Given the description of an element on the screen output the (x, y) to click on. 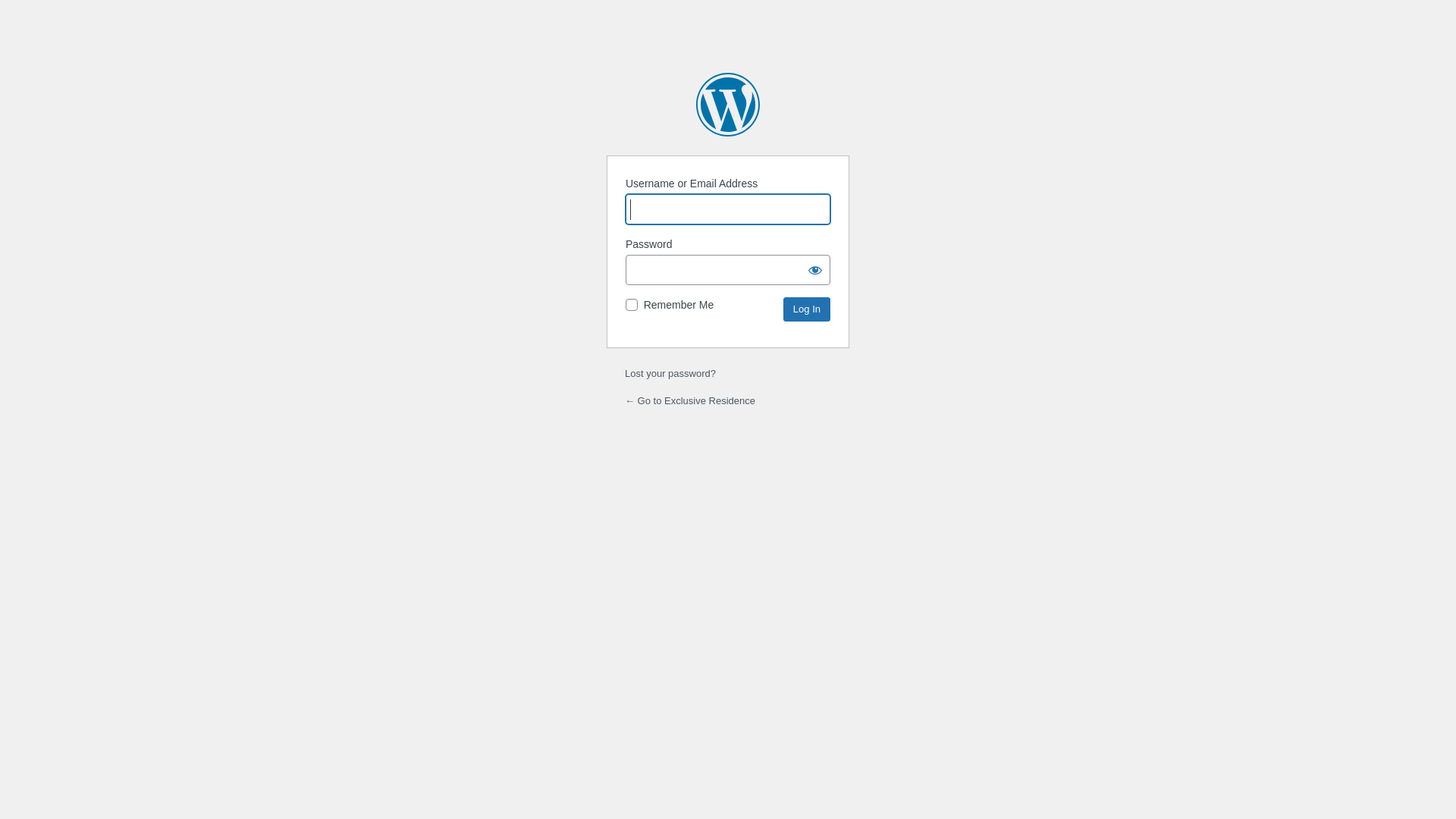
Lost your password? Element type: text (669, 373)
Powered by WordPress Element type: text (727, 104)
Log In Element type: text (806, 309)
